Given the description of an element on the screen output the (x, y) to click on. 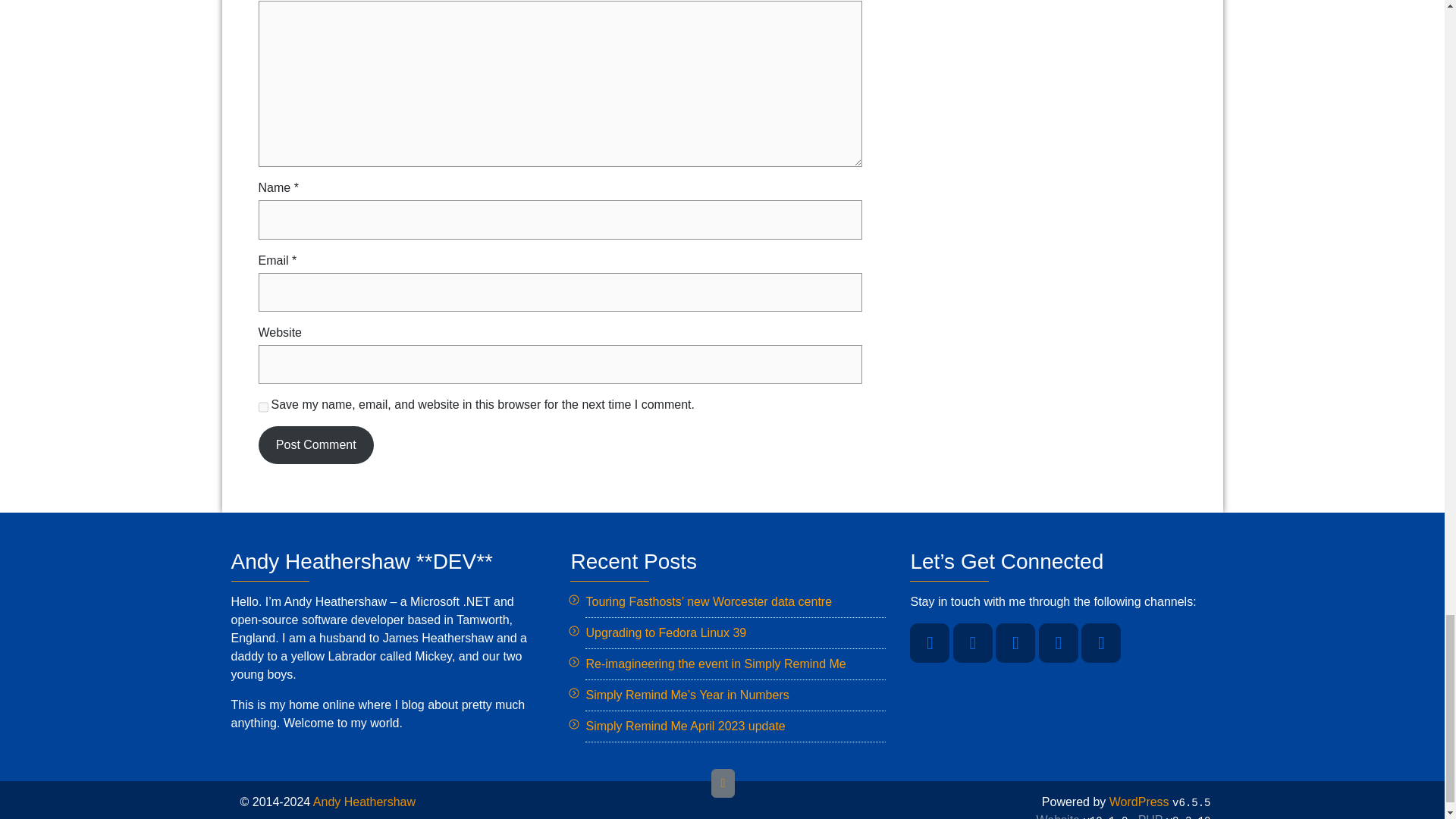
Github (1058, 642)
Post Comment (314, 444)
Post Comment (314, 444)
Email me (1101, 642)
LinkedIn (1015, 642)
Facebook (972, 642)
